Given the description of an element on the screen output the (x, y) to click on. 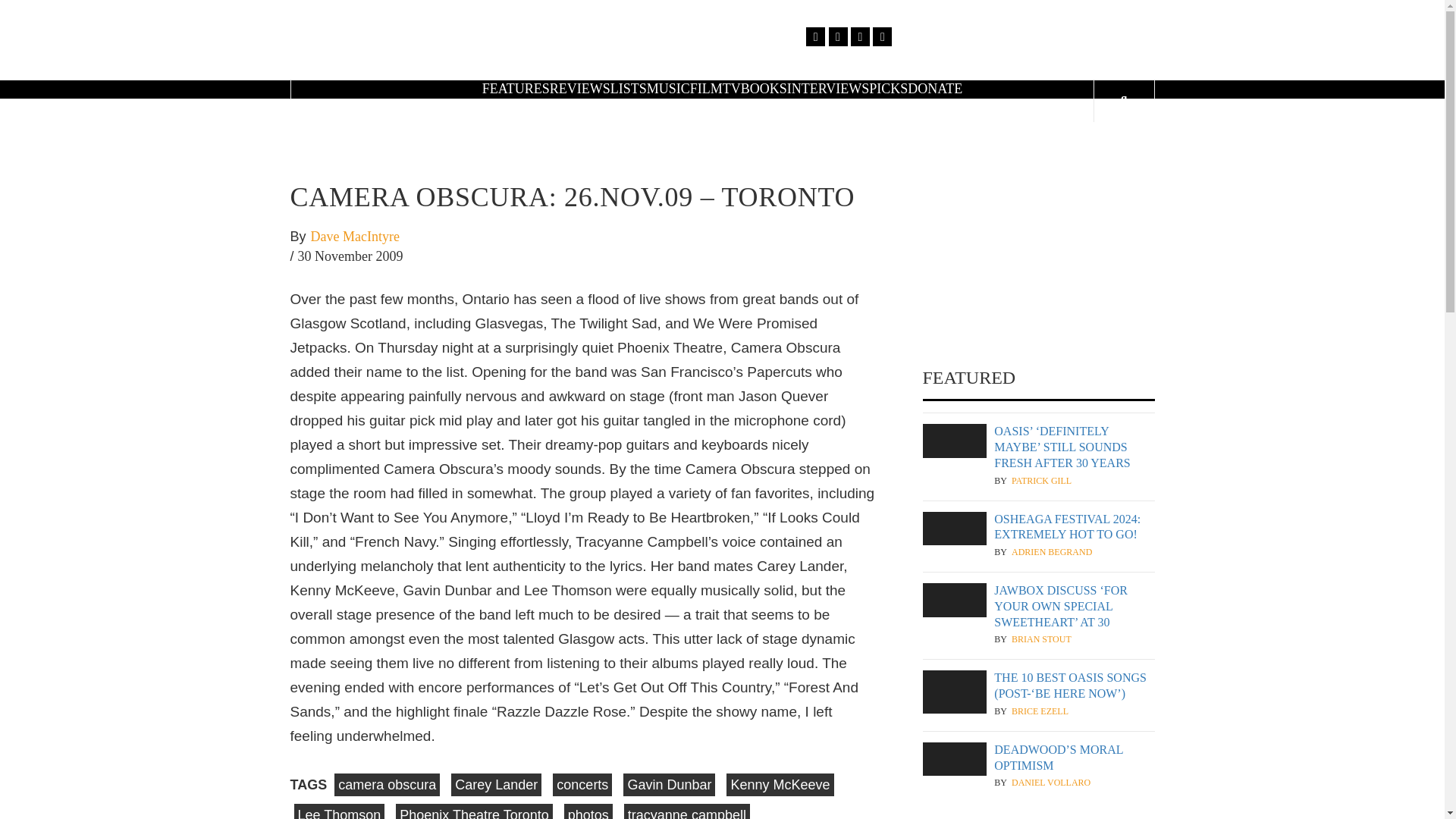
Carey Lander (496, 784)
REVIEWS (580, 88)
Daniel Vollaro (1050, 782)
Dave MacIntyre (354, 237)
POPMATTERS (903, 45)
photos (588, 811)
Lee Thomson (339, 811)
TV (731, 88)
Instagram (859, 36)
tracyanne campbell (686, 811)
